Given the description of an element on the screen output the (x, y) to click on. 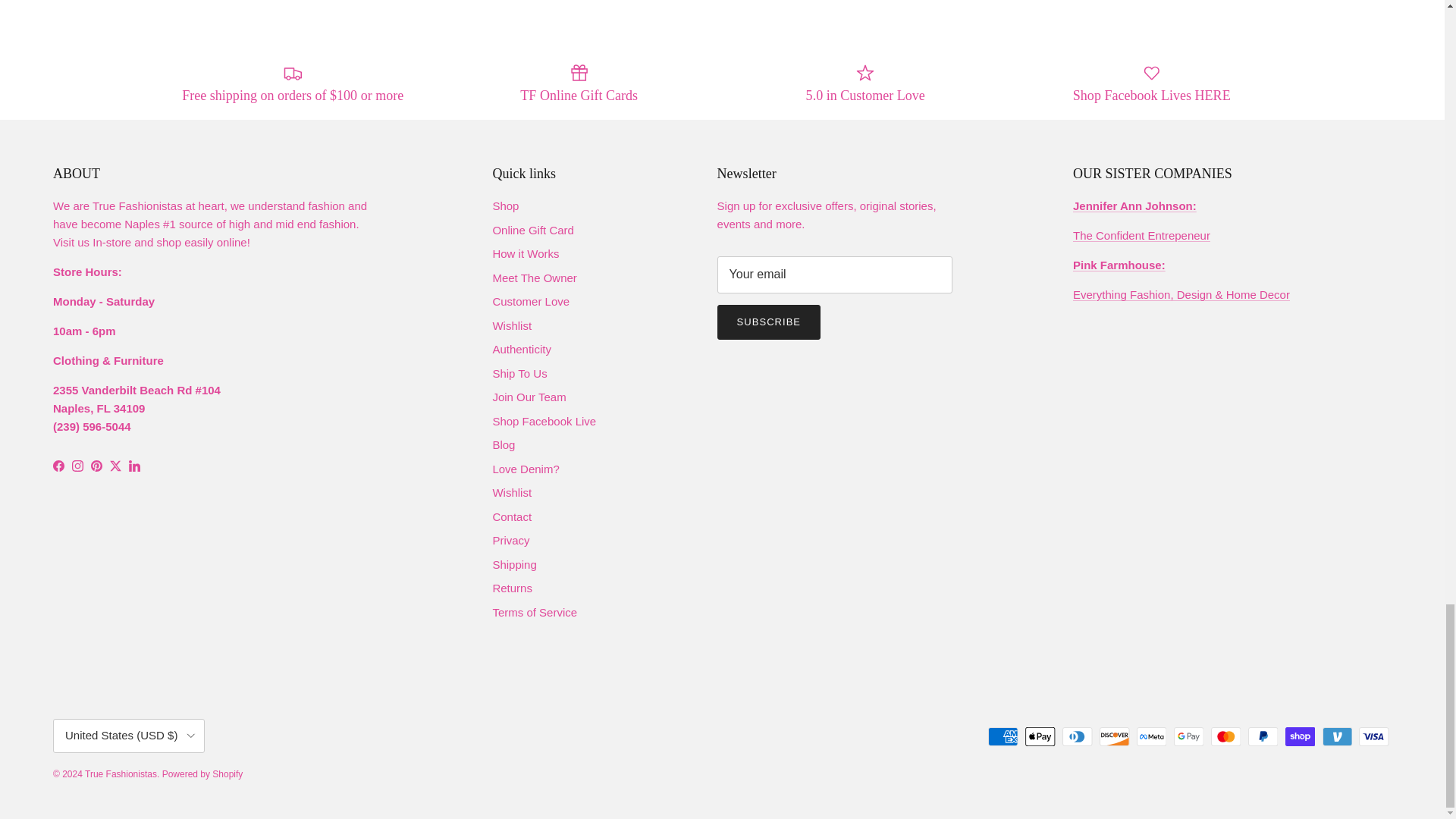
Mastercard (1225, 736)
Visa (1373, 736)
Venmo (1337, 736)
Google Pay (1188, 736)
Apple Pay (1040, 736)
American Express (1002, 736)
PayPal (1262, 736)
Discover (1114, 736)
Diners Club (1077, 736)
Shop Pay (1299, 736)
